Given the description of an element on the screen output the (x, y) to click on. 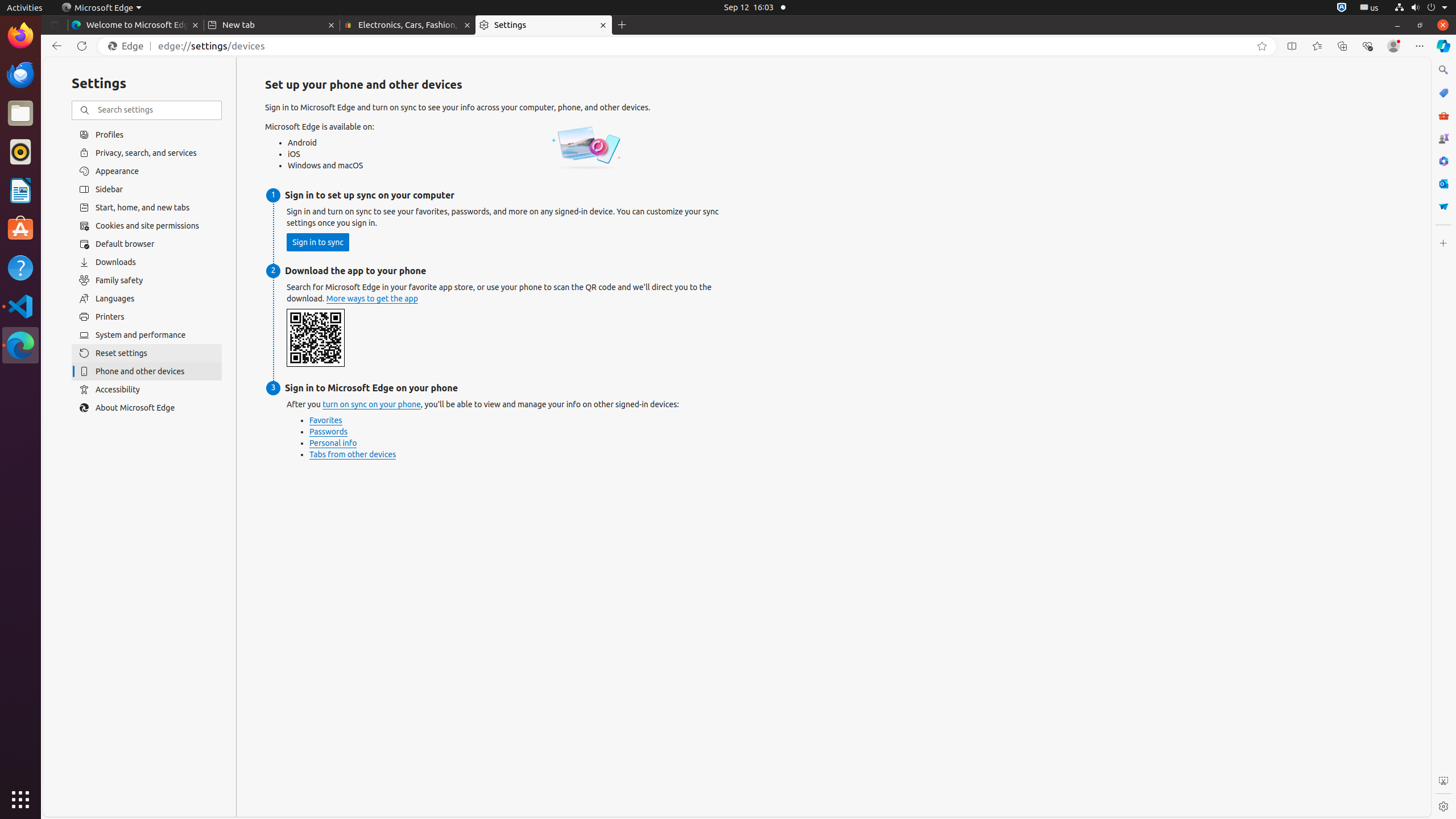
Split screen Element type: push-button (1291, 45)
:1.21/StatusNotifierItem Element type: menu (1369, 7)
Default browser Element type: tree-item (146, 243)
Windows and macOS Element type: list-item (328, 165)
Screenshot Element type: push-button (1443, 780)
